Given the description of an element on the screen output the (x, y) to click on. 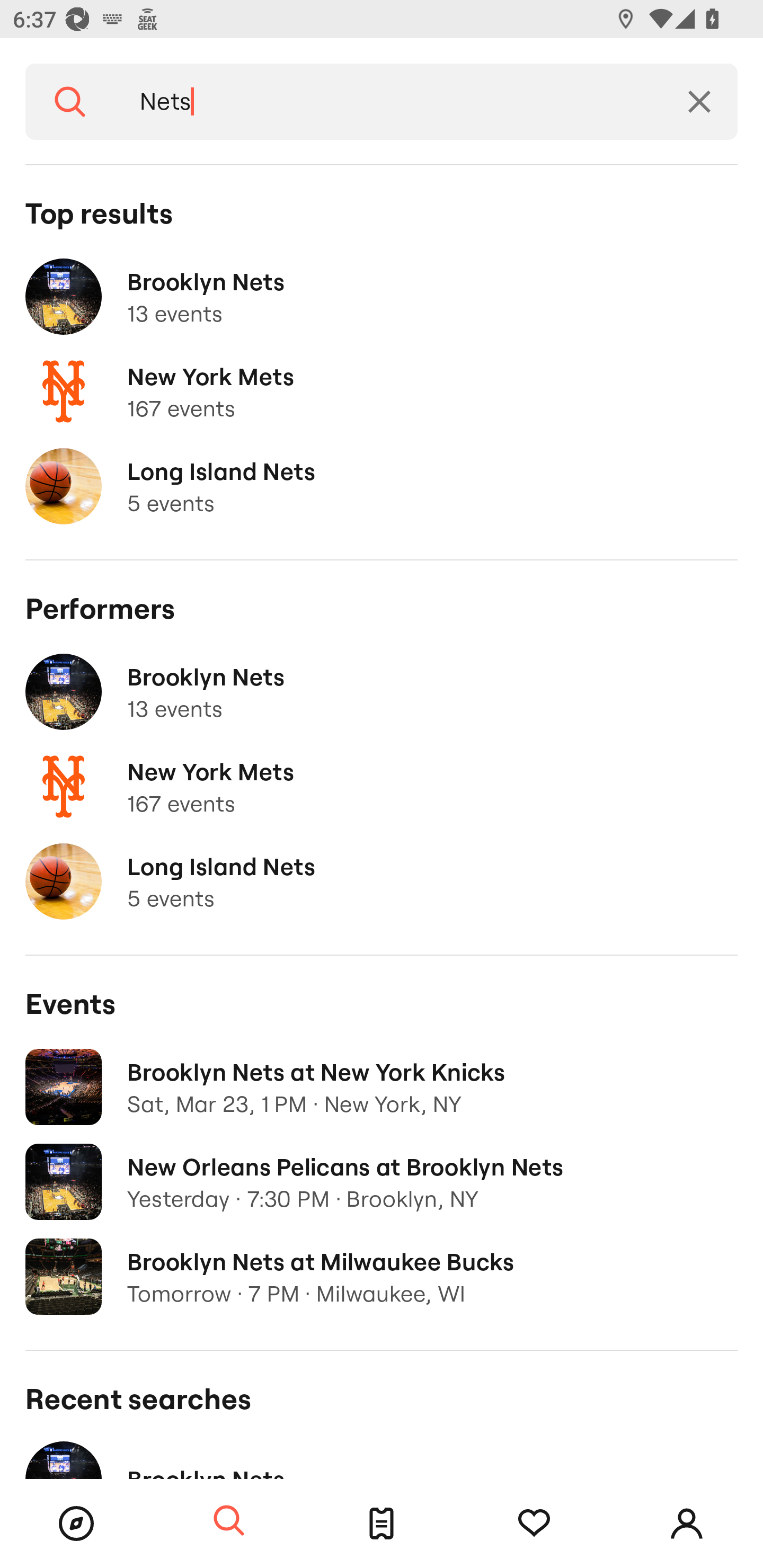
Search (69, 101)
Nets (387, 101)
Clear (699, 101)
Brooklyn Nets 13 events (381, 296)
New York Mets 167 events (381, 391)
Long Island Nets 5 events (381, 486)
Brooklyn Nets 13 events (381, 692)
New York Mets 167 events (381, 787)
Long Island Nets 5 events (381, 881)
Browse (76, 1523)
Search (228, 1521)
Tickets (381, 1523)
Tracking (533, 1523)
Account (686, 1523)
